Given the description of an element on the screen output the (x, y) to click on. 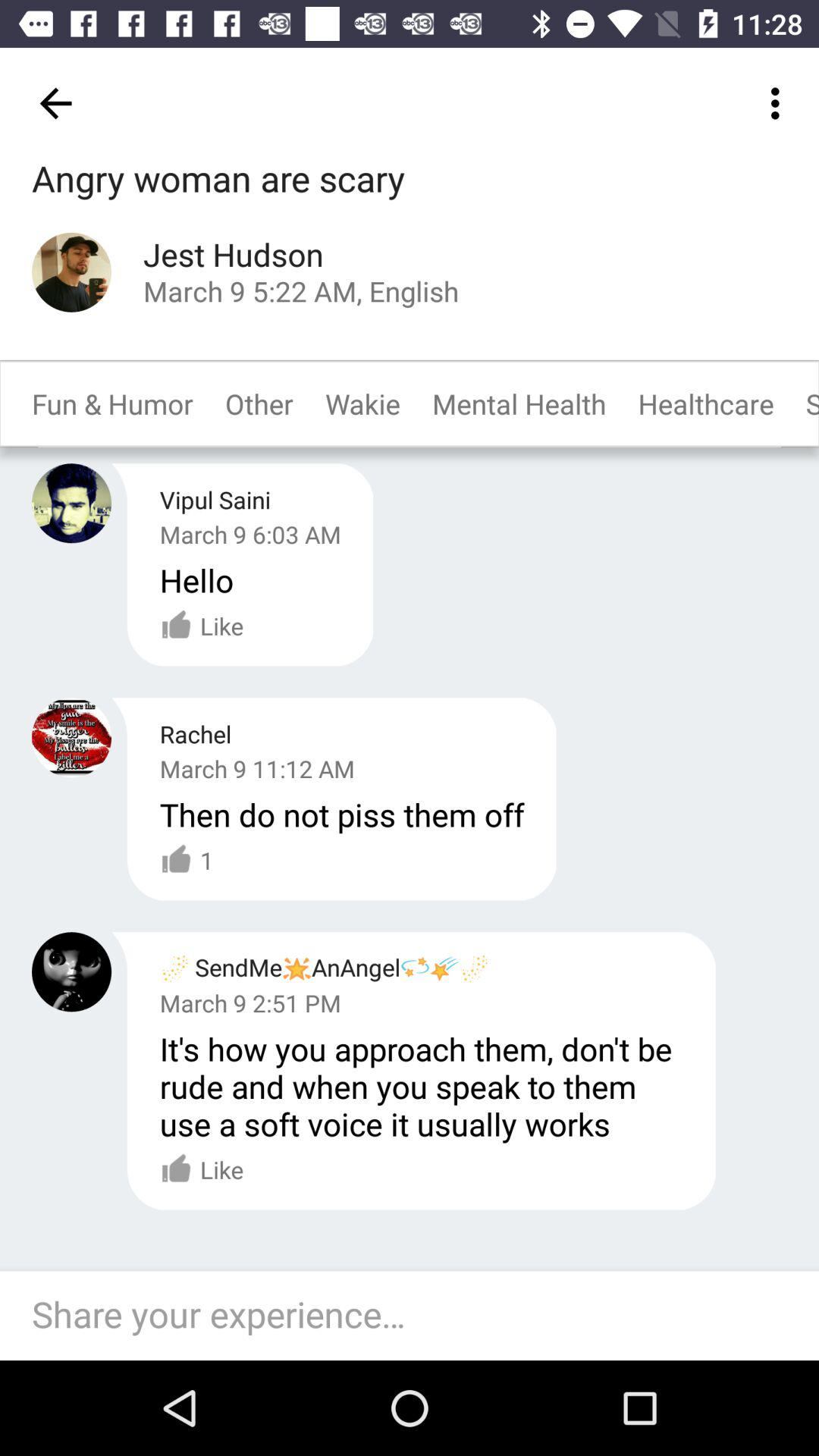
turn on the item below the march 9 11 icon (186, 860)
